Given the description of an element on the screen output the (x, y) to click on. 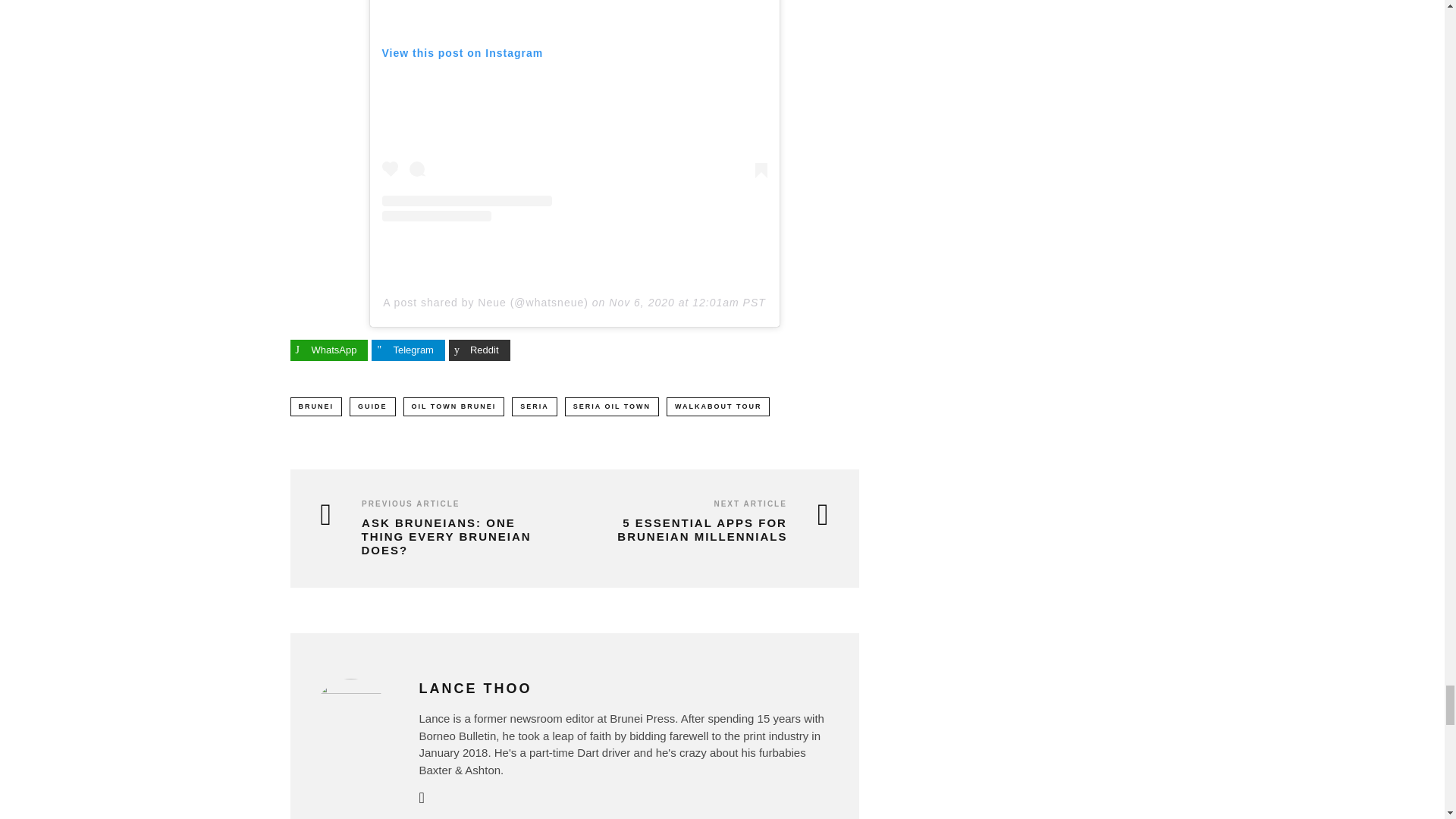
Share on Reddit (479, 350)
Share on WhatsApp (328, 350)
Share on Telegram (407, 350)
